Given the description of an element on the screen output the (x, y) to click on. 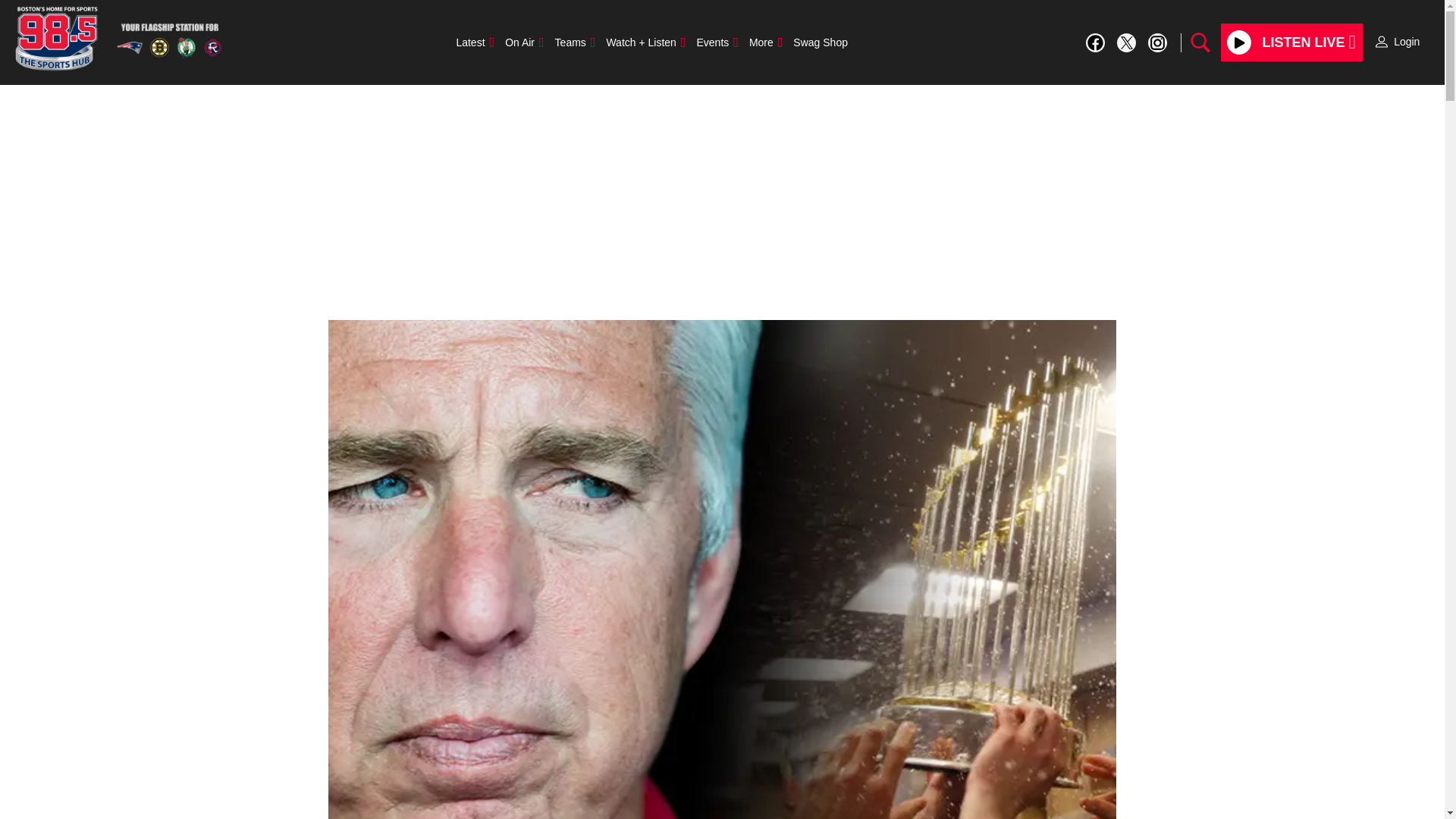
On Air (523, 42)
Teams (575, 42)
Latest (474, 42)
